Given the description of an element on the screen output the (x, y) to click on. 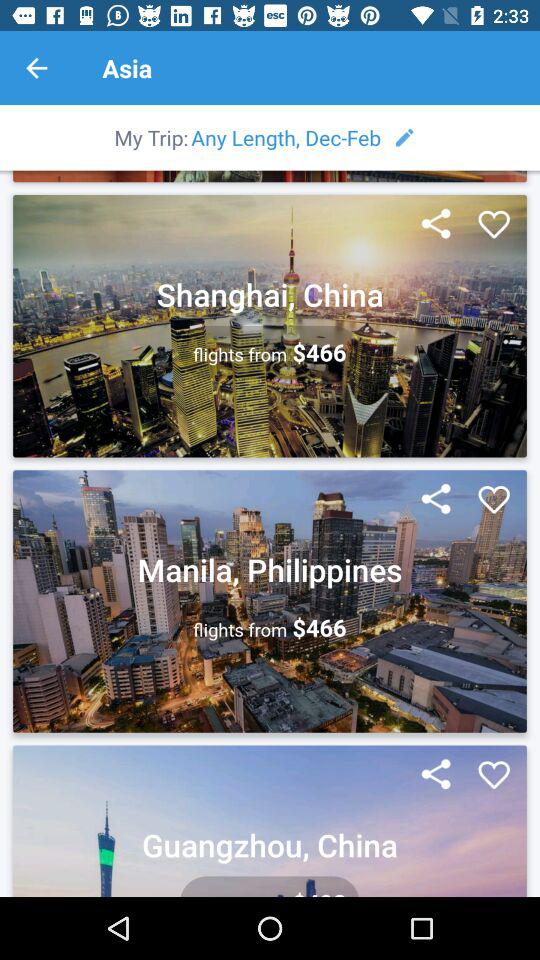
to share (435, 775)
